Given the description of an element on the screen output the (x, y) to click on. 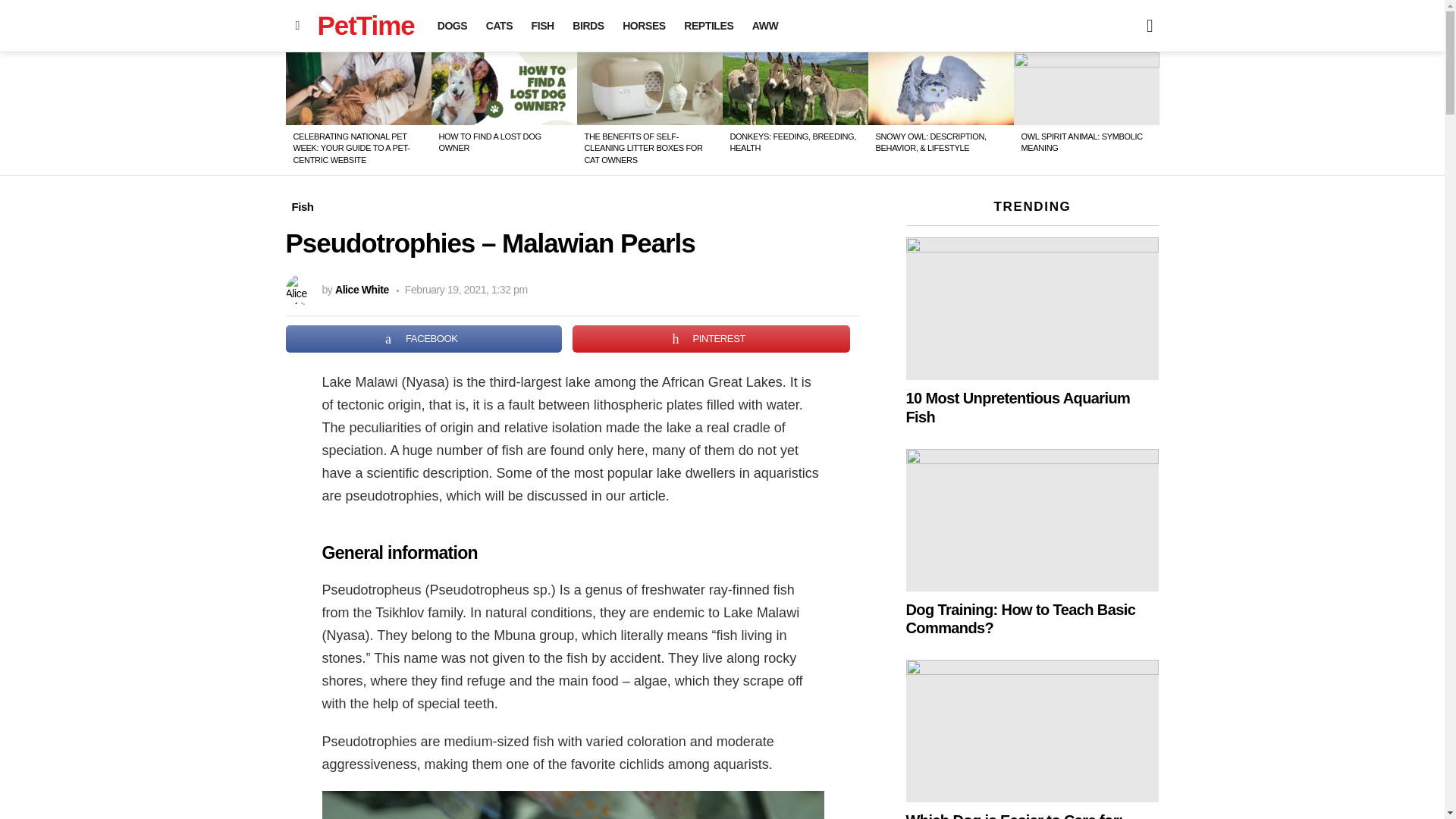
BIRDS (587, 25)
Alice White (361, 289)
The Benefits of Self-Cleaning Litter Boxes for Cat Owners (649, 88)
Fish (301, 207)
THE BENEFITS OF SELF-CLEANING LITTER BOXES FOR CAT OWNERS (642, 147)
PINTEREST (711, 338)
HORSES (643, 25)
AWW (765, 25)
